Given the description of an element on the screen output the (x, y) to click on. 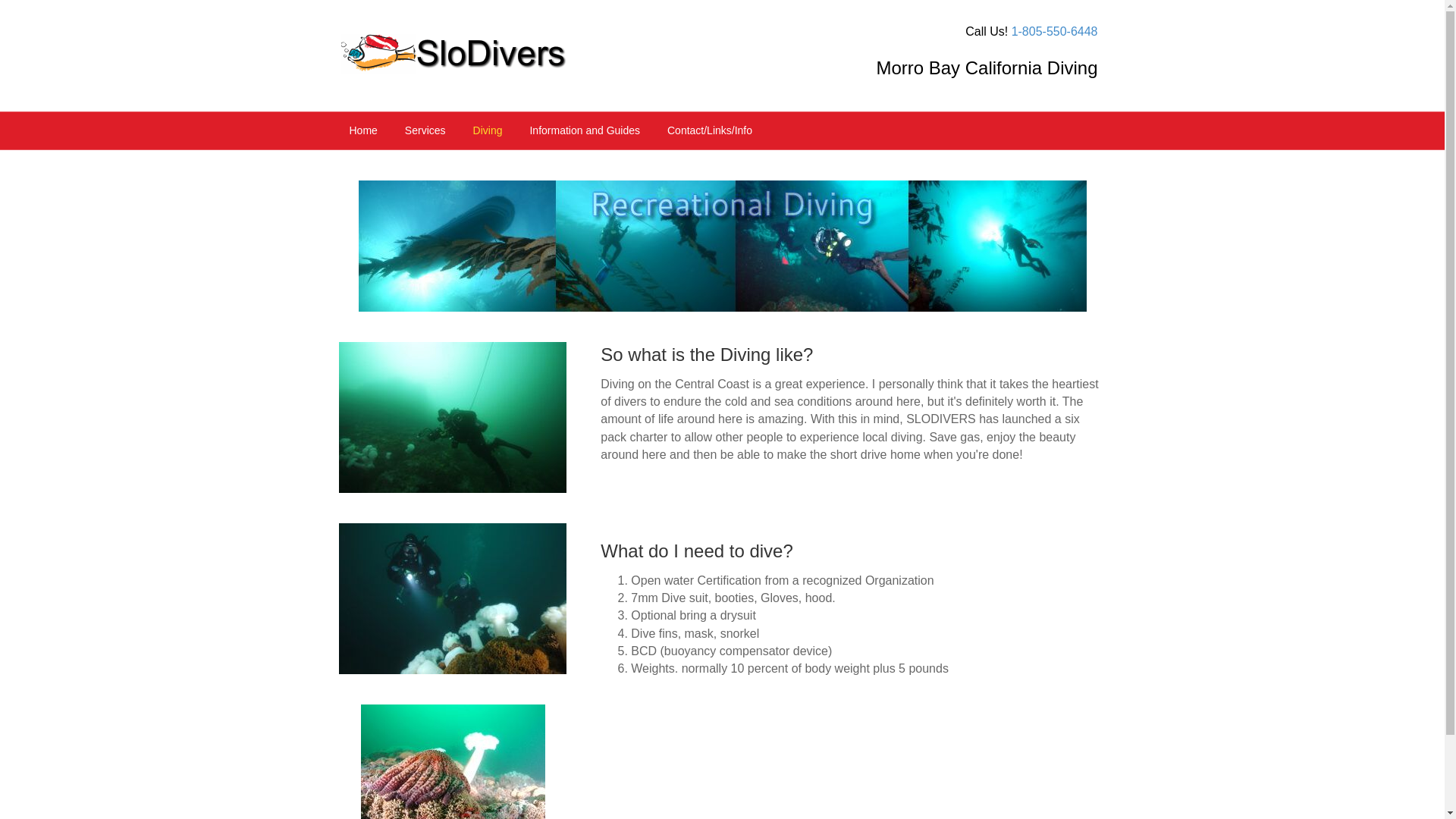
diving3 (452, 417)
diving1 (452, 761)
diving2 (452, 598)
